Given the description of an element on the screen output the (x, y) to click on. 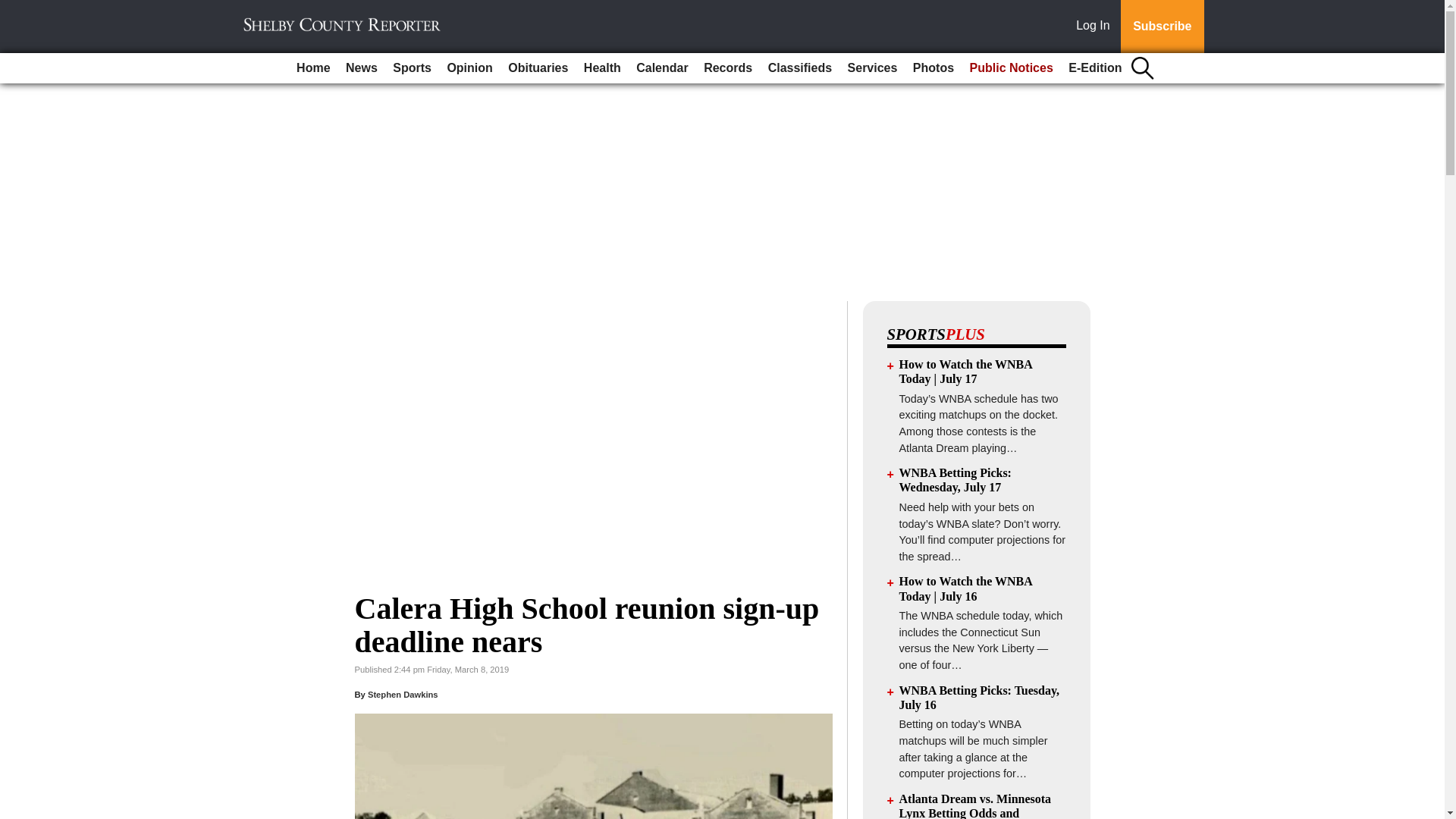
News (361, 68)
Classifieds (799, 68)
Services (872, 68)
Sports (412, 68)
Opinion (469, 68)
Log In (1095, 26)
Home (312, 68)
Health (602, 68)
Records (727, 68)
Calendar (662, 68)
Subscribe (1162, 26)
Obituaries (537, 68)
